Given the description of an element on the screen output the (x, y) to click on. 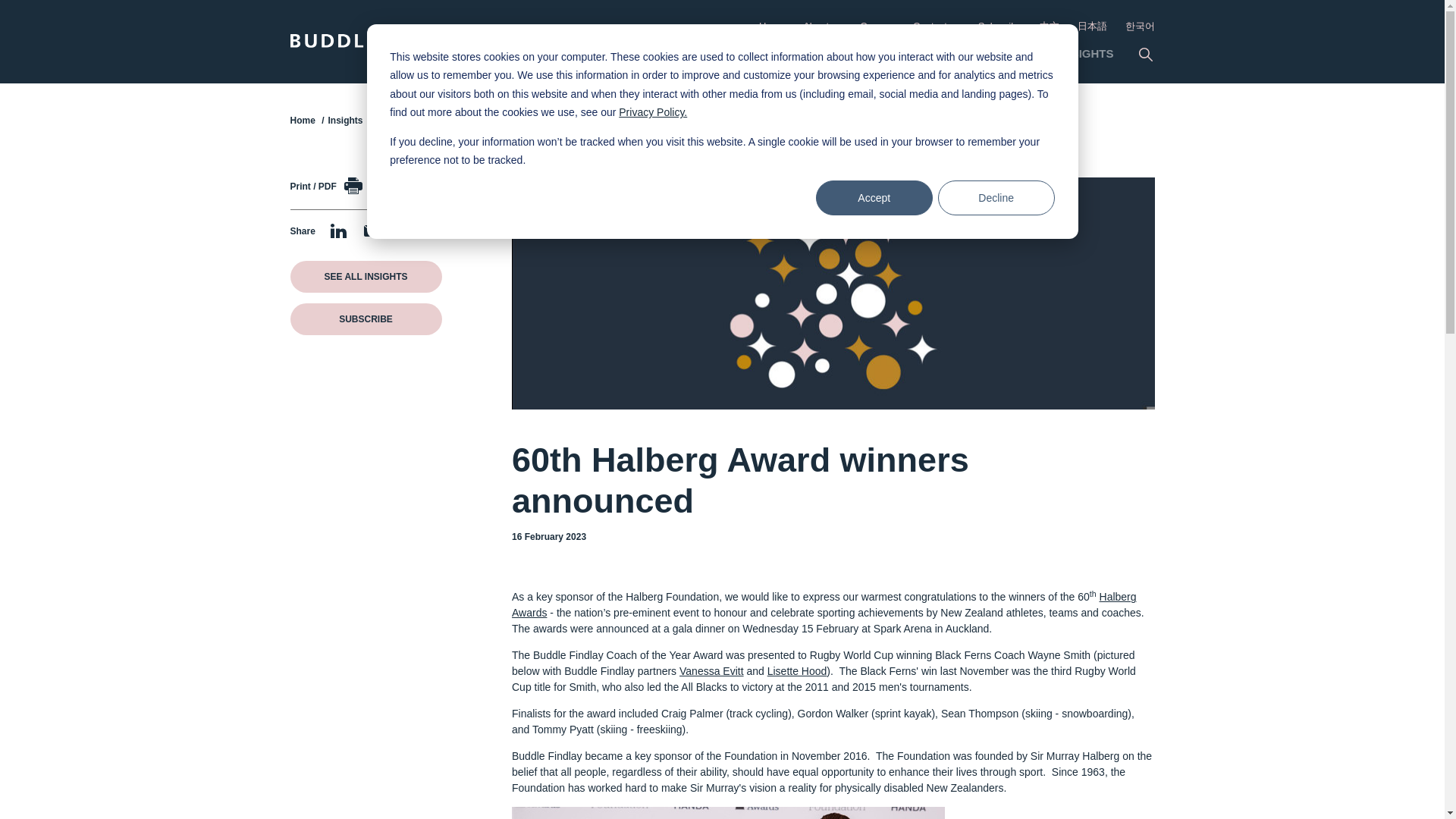
Contact us (935, 25)
Subscribe (1000, 25)
Vanessa Evitt (711, 671)
Lisette Hood (797, 671)
EXPERTISE (926, 54)
Careers (877, 25)
About us (822, 25)
Home (772, 25)
